Given the description of an element on the screen output the (x, y) to click on. 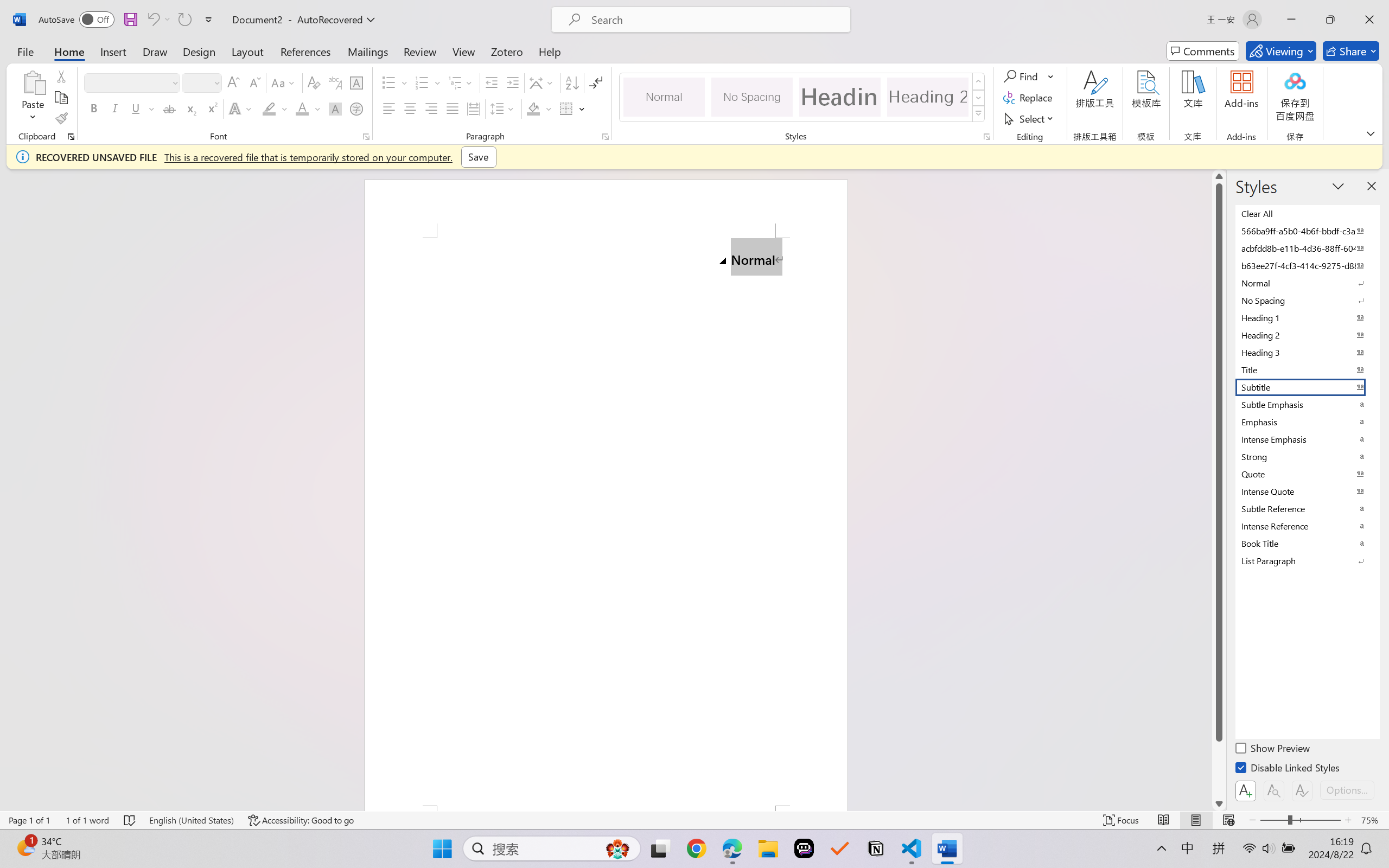
Page Number Page 1 of 1 (29, 819)
Microsoft search (715, 19)
Mode (1280, 50)
Phonetic Guide... (334, 82)
Help (549, 51)
Class: NetUIScrollBar (1219, 489)
Select (1030, 118)
Enclose Characters... (356, 108)
Line and Paragraph Spacing (503, 108)
566ba9ff-a5b0-4b6f-bbdf-c3ab41993fc2 (1306, 230)
Clear Formatting (313, 82)
Options... (1346, 789)
